Given the description of an element on the screen output the (x, y) to click on. 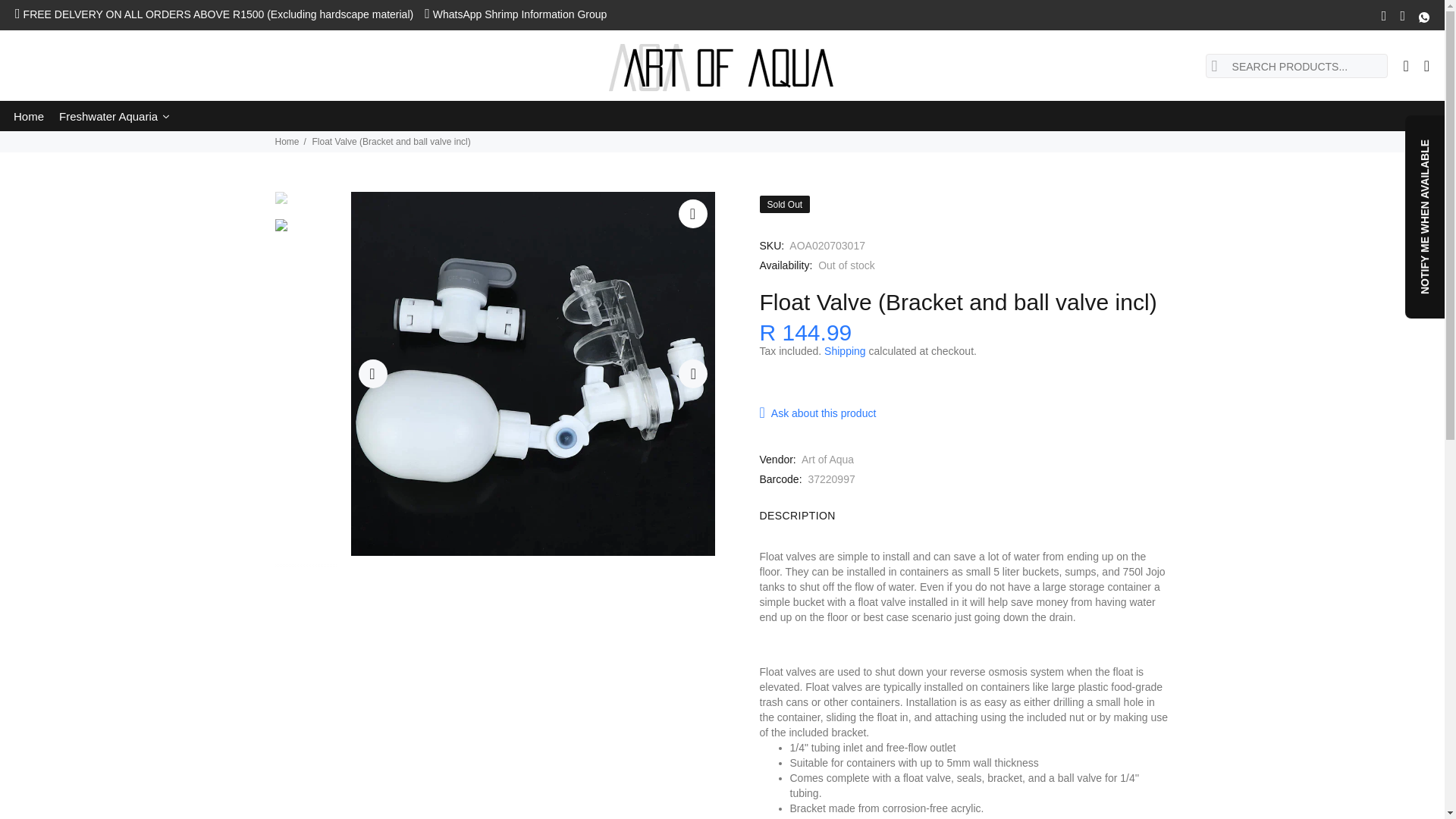
Art of Aqua (827, 459)
WhatsApp Shrimp Information Group (519, 14)
Previous (372, 373)
Home (286, 141)
Home (27, 115)
Home (27, 115)
Next (692, 373)
Shipping (845, 350)
Freshwater Aquaria (113, 115)
Ask about this product (822, 412)
